Given the description of an element on the screen output the (x, y) to click on. 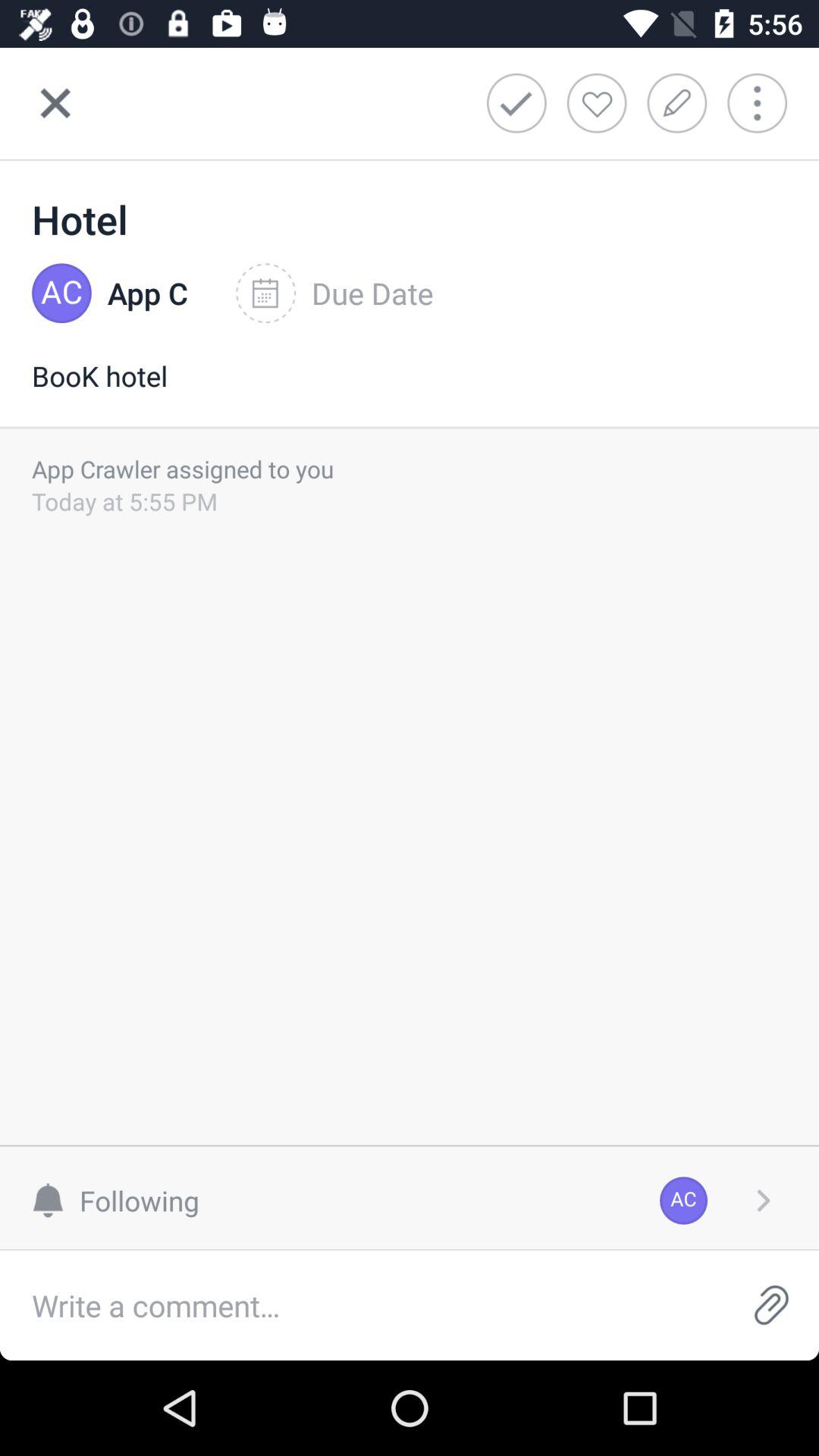
scroll until the following (123, 1200)
